Given the description of an element on the screen output the (x, y) to click on. 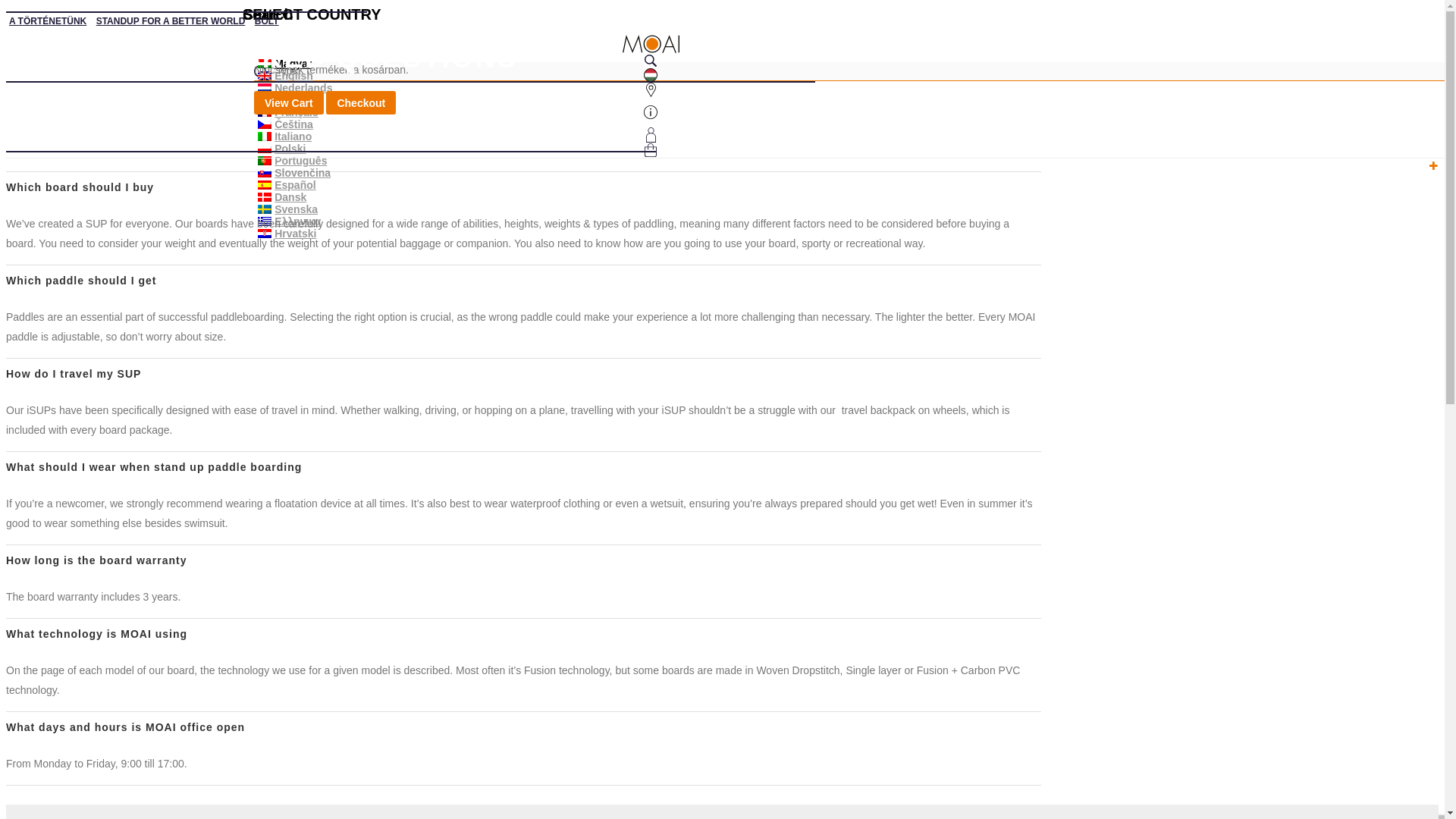
STANDUP FOR A BETTER WORLD (170, 20)
BOLT (266, 20)
